Given the description of an element on the screen output the (x, y) to click on. 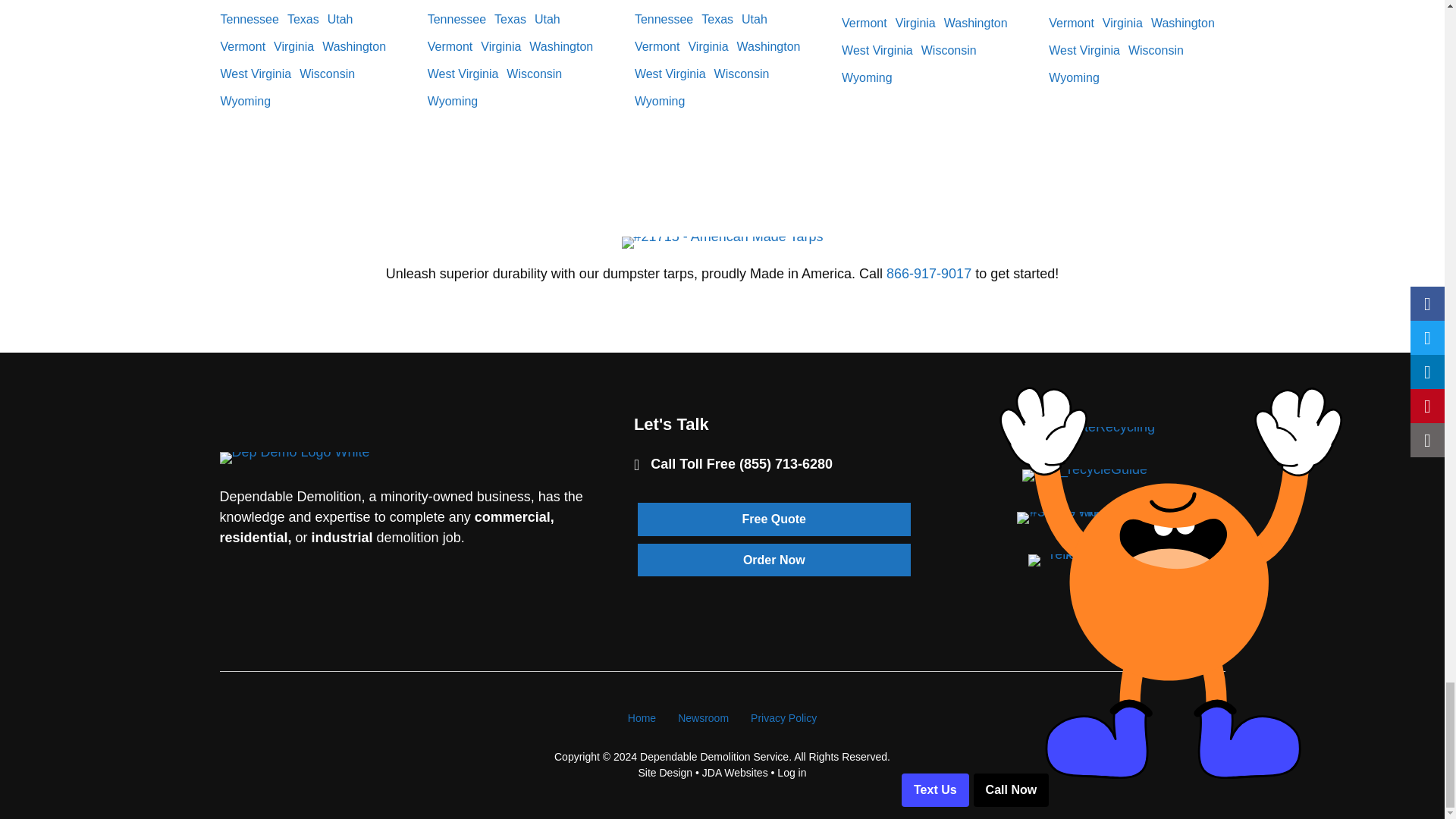
Yellow-Iron-of-America (1084, 560)
Dep Demo Logo White (294, 458)
JDA Websites - Building the Best Waste Sites in the Industry (734, 772)
